Given the description of an element on the screen output the (x, y) to click on. 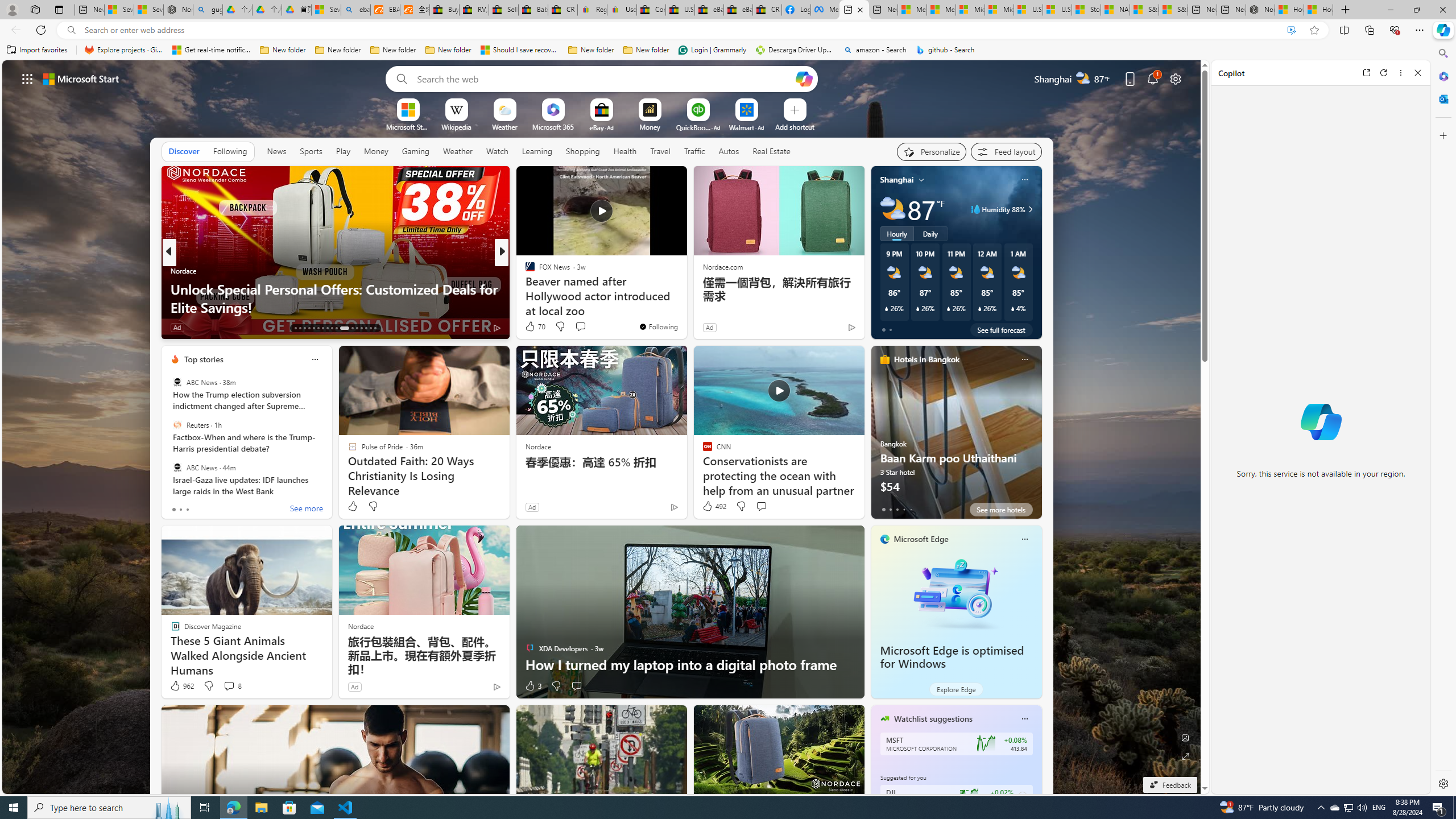
Consumer Health Data Privacy Policy - eBay Inc. (651, 9)
70 Like (534, 326)
Should I save recovered Word documents? - Microsoft Support (519, 49)
AutomationID: tab-22 (336, 328)
Microsoft start (81, 78)
Search (1442, 53)
Autos (728, 151)
AutomationID: tab-32 (361, 328)
Enhance video (1291, 29)
Discover (183, 151)
Shanghai (896, 179)
AutomationID: tab-19 (322, 328)
amazon - Search (875, 49)
